Given the description of an element on the screen output the (x, y) to click on. 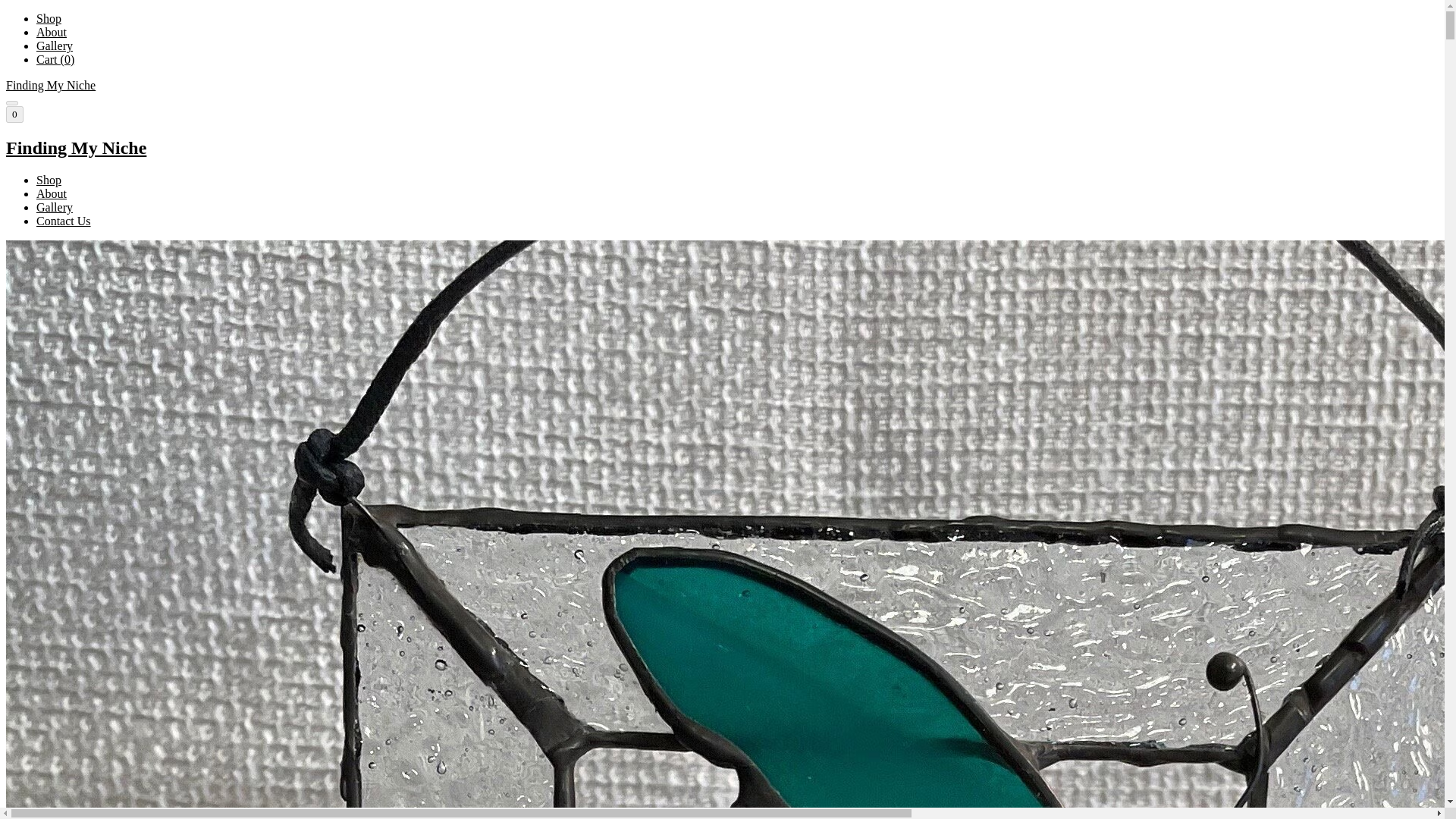
Shop (48, 179)
About (51, 31)
Gallery (54, 206)
0 (14, 114)
Shop (48, 18)
Contact Us (63, 220)
Gallery (54, 45)
About (51, 193)
Finding My Niche (721, 148)
